Given the description of an element on the screen output the (x, y) to click on. 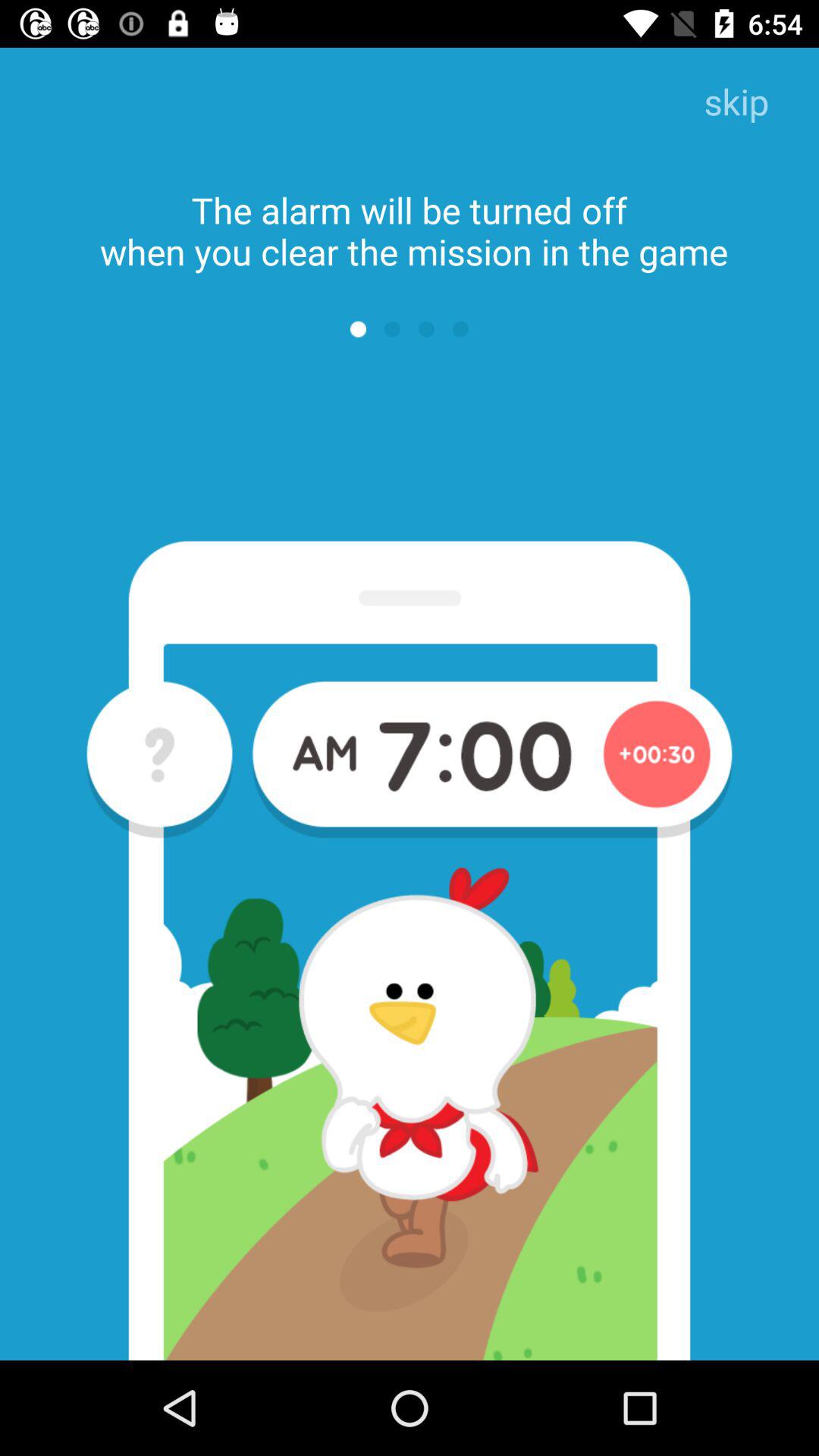
press the item above the the alarm will icon (736, 103)
